Given the description of an element on the screen output the (x, y) to click on. 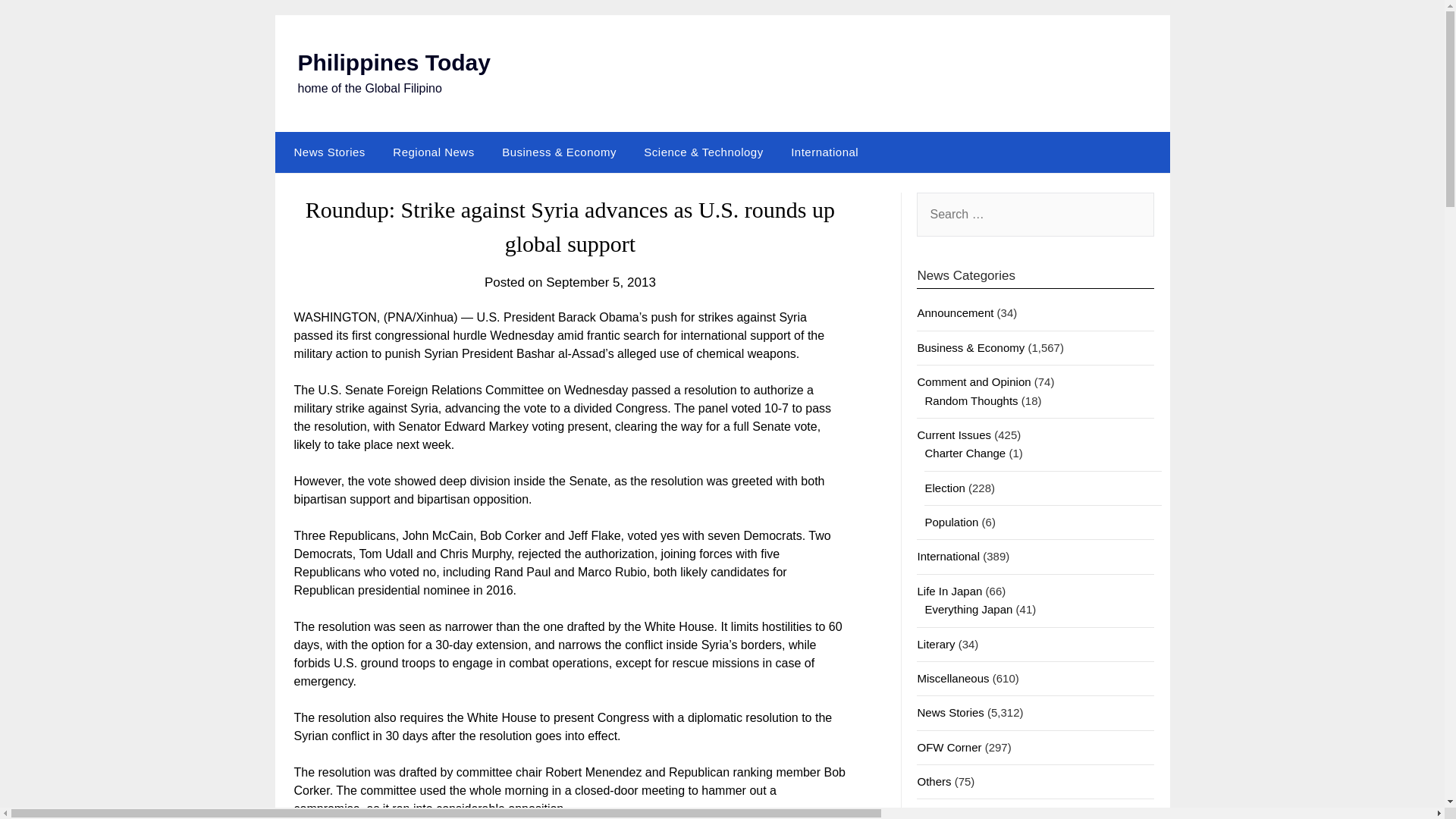
International (948, 555)
Current Issues (954, 434)
Everything Japan (967, 608)
Random Thoughts (970, 400)
Regional News (433, 151)
Miscellaneous (952, 677)
Comment and Opinion (973, 381)
Charter Change (965, 452)
International (824, 151)
Philippines Today (393, 62)
Population (951, 521)
Others (933, 780)
Life In Japan (949, 590)
Search (38, 22)
Literary (936, 644)
